Given the description of an element on the screen output the (x, y) to click on. 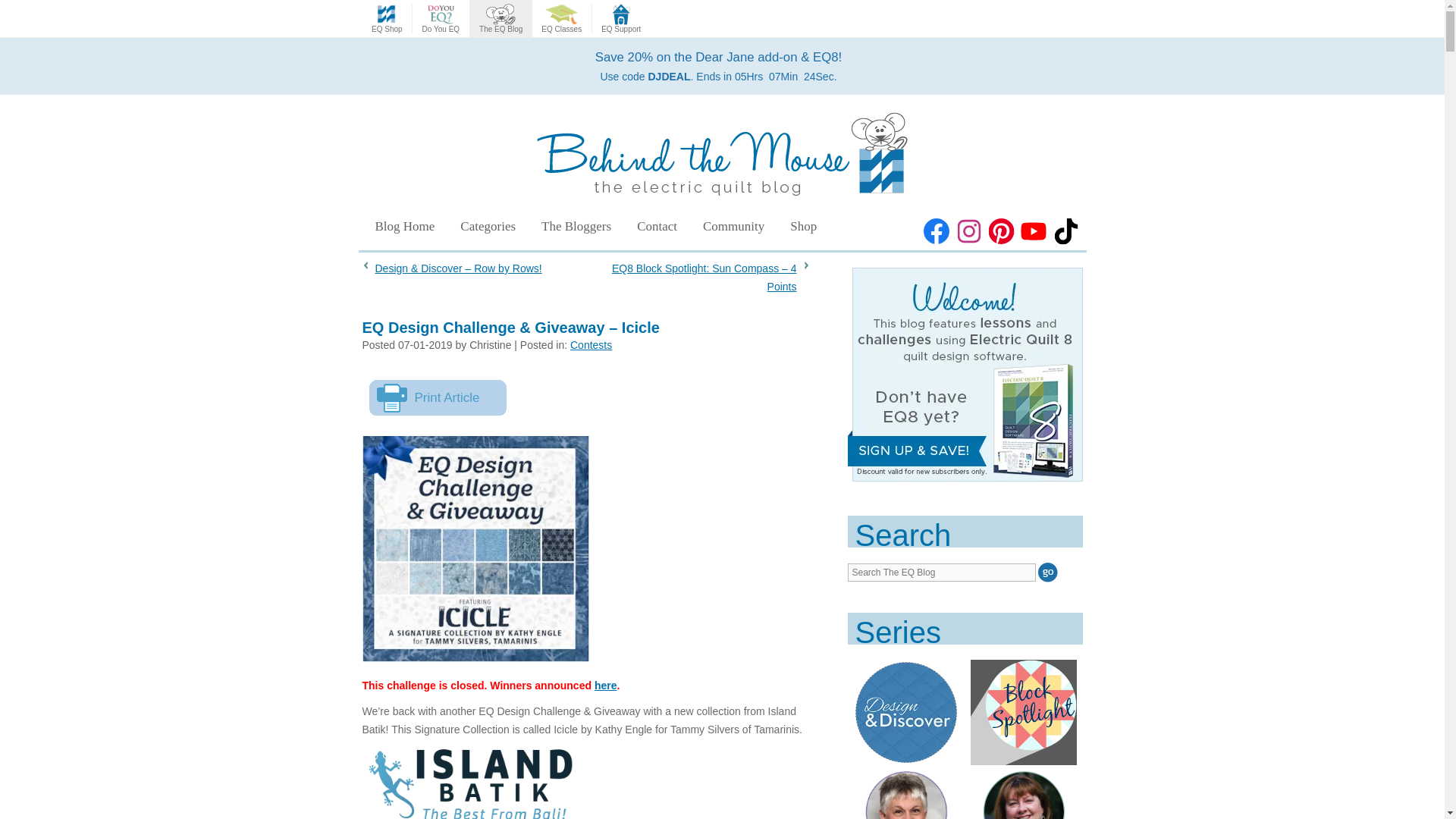
EQ Classes (561, 19)
Community (733, 226)
Categories (487, 226)
Do You EQ (440, 19)
The EQ Blog (500, 19)
EQ Shop (387, 19)
details (718, 66)
Shop (803, 226)
Blog Home (403, 226)
Do You EQ (440, 19)
The EQ Blog (500, 19)
EQ Classes (561, 19)
EQ Support (620, 19)
Electric Quilt (387, 19)
Search (1048, 572)
